Given the description of an element on the screen output the (x, y) to click on. 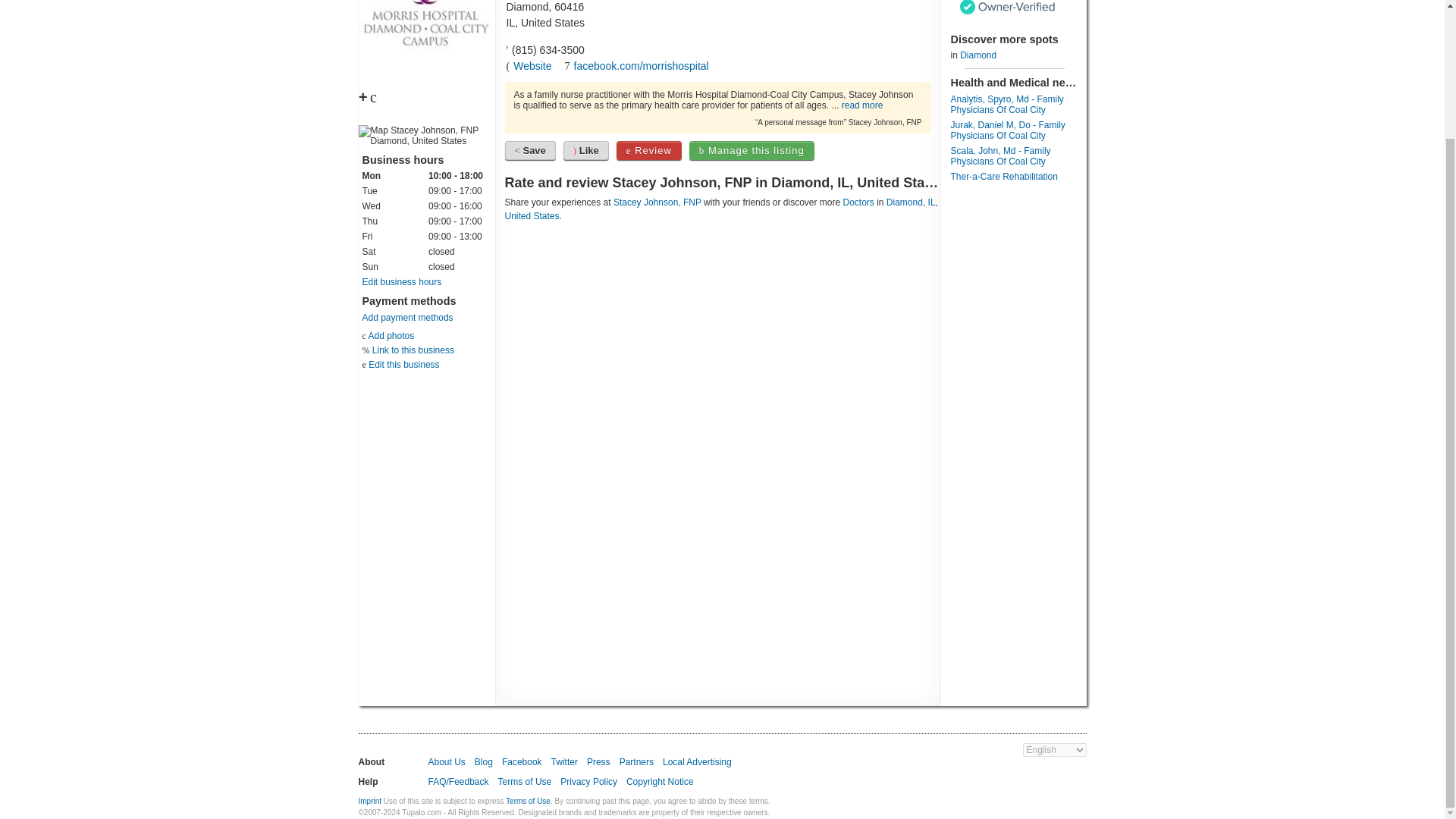
Blog (483, 761)
Twitter (564, 761)
Doctors (859, 202)
Terms of Use (524, 781)
Ther-a-Care Rehabilitation (1004, 176)
Stacey Johnson, FNP (656, 202)
Jurak, Daniel M, Do - Family Physicians Of Coal City (1007, 129)
Partners (636, 761)
Imprint (369, 800)
Show on interactive map (426, 135)
